Given the description of an element on the screen output the (x, y) to click on. 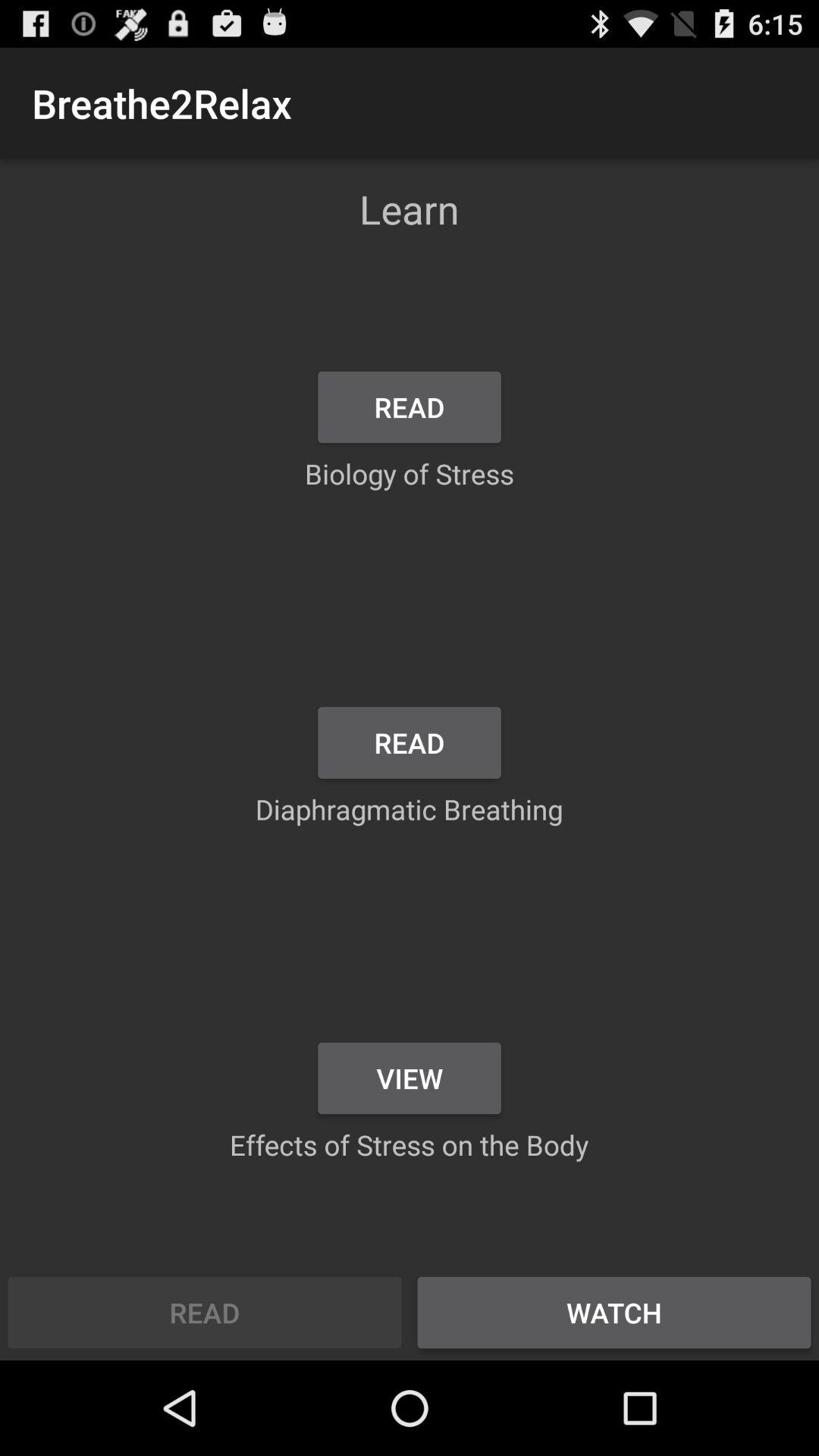
turn on the item below diaphragmatic breathing item (409, 1078)
